Given the description of an element on the screen output the (x, y) to click on. 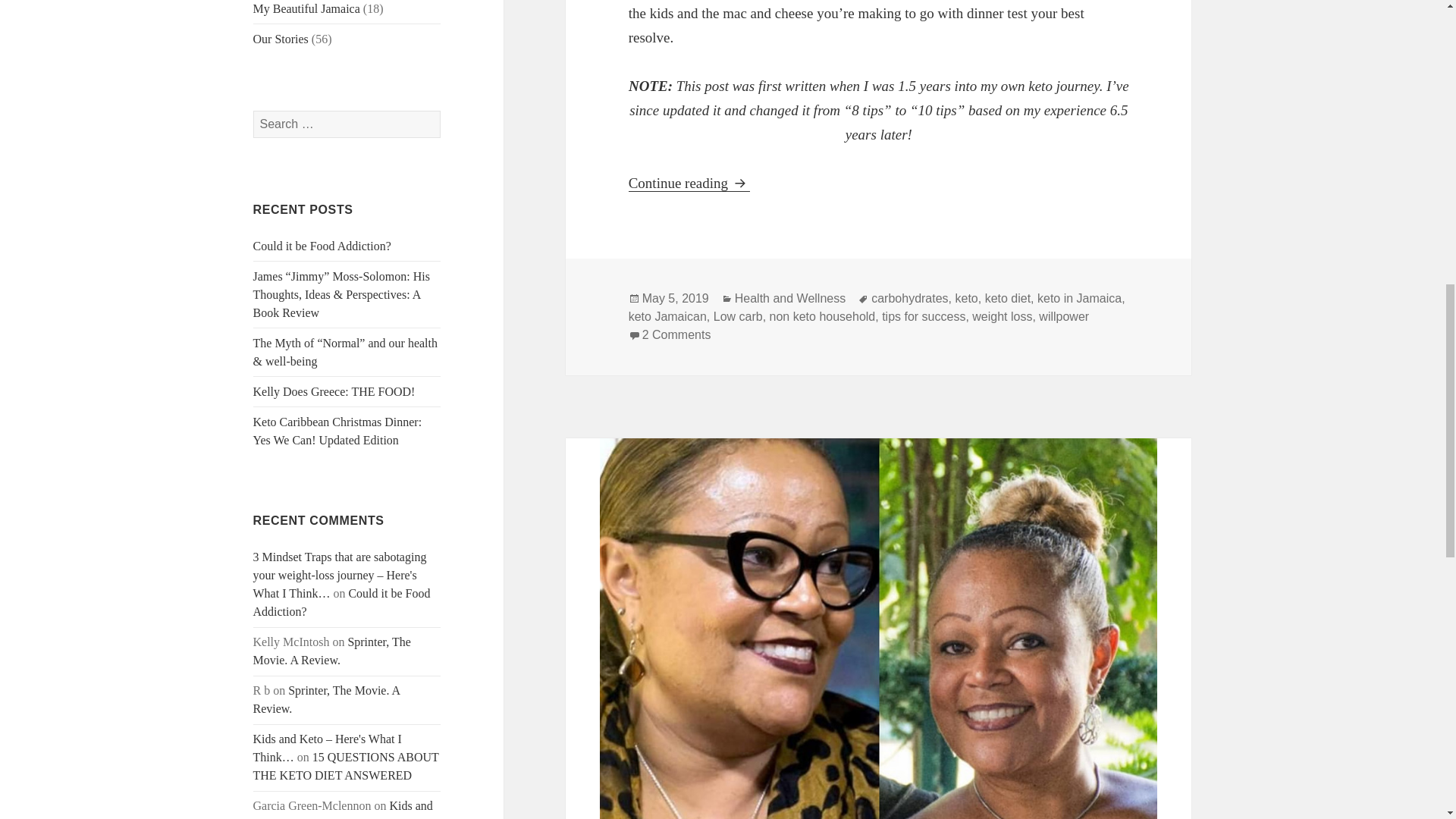
My Beautiful Jamaica (306, 8)
Our Stories (280, 38)
May 5, 2019 (675, 298)
Could it be Food Addiction? (341, 602)
Could it be Food Addiction? (322, 245)
Sprinter, The Movie. A Review. (326, 698)
15 QUESTIONS ABOUT THE KETO DIET ANSWERED (346, 766)
